Given the description of an element on the screen output the (x, y) to click on. 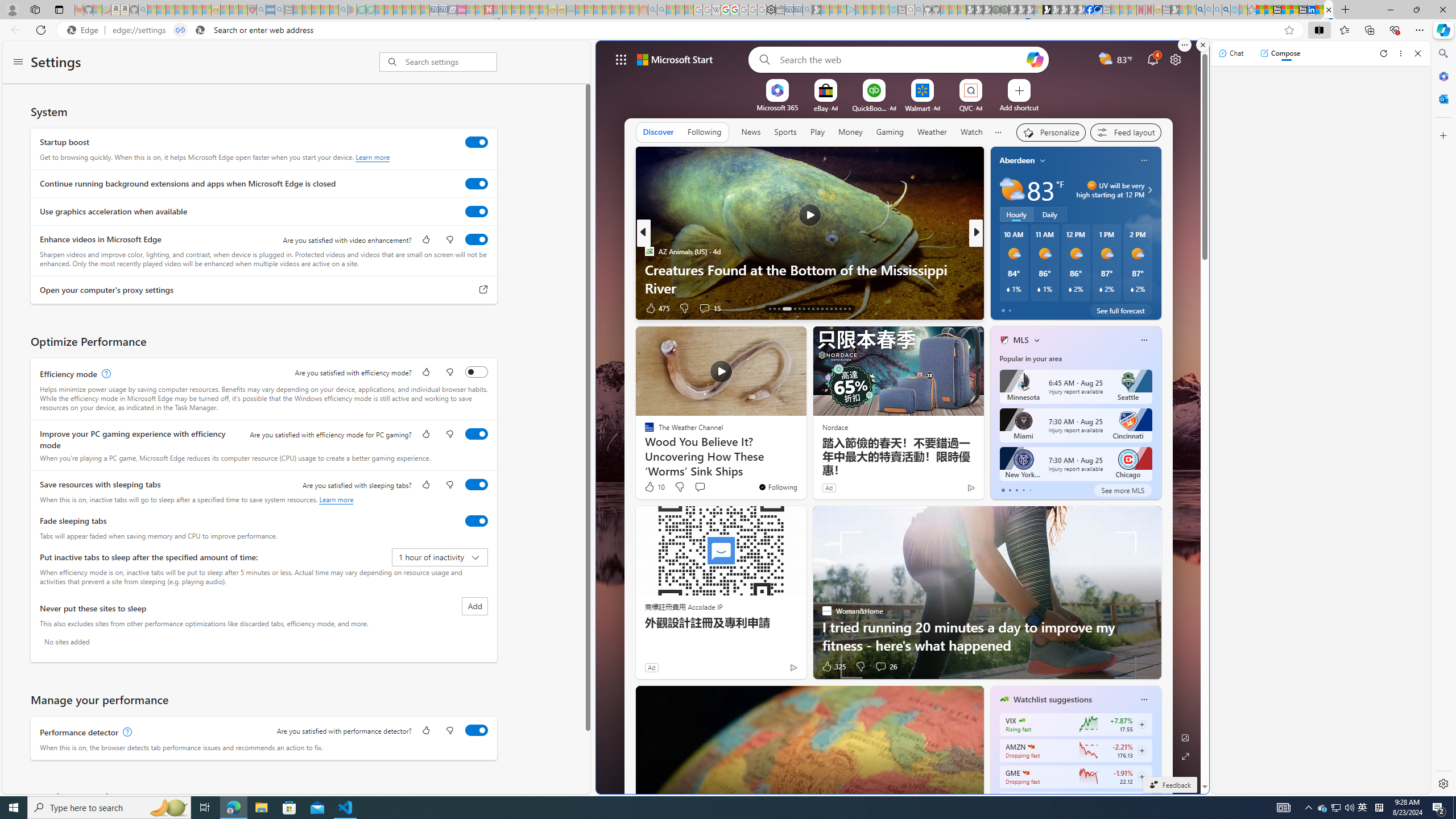
Bing AI - Search (1200, 9)
12 Lies You Were Told About Space (1159, 287)
Personalize your feed" (1051, 132)
View comments 18 Comment (1059, 307)
View comments 543 Comment (1057, 307)
google - Search - Sleeping (342, 9)
